Given the description of an element on the screen output the (x, y) to click on. 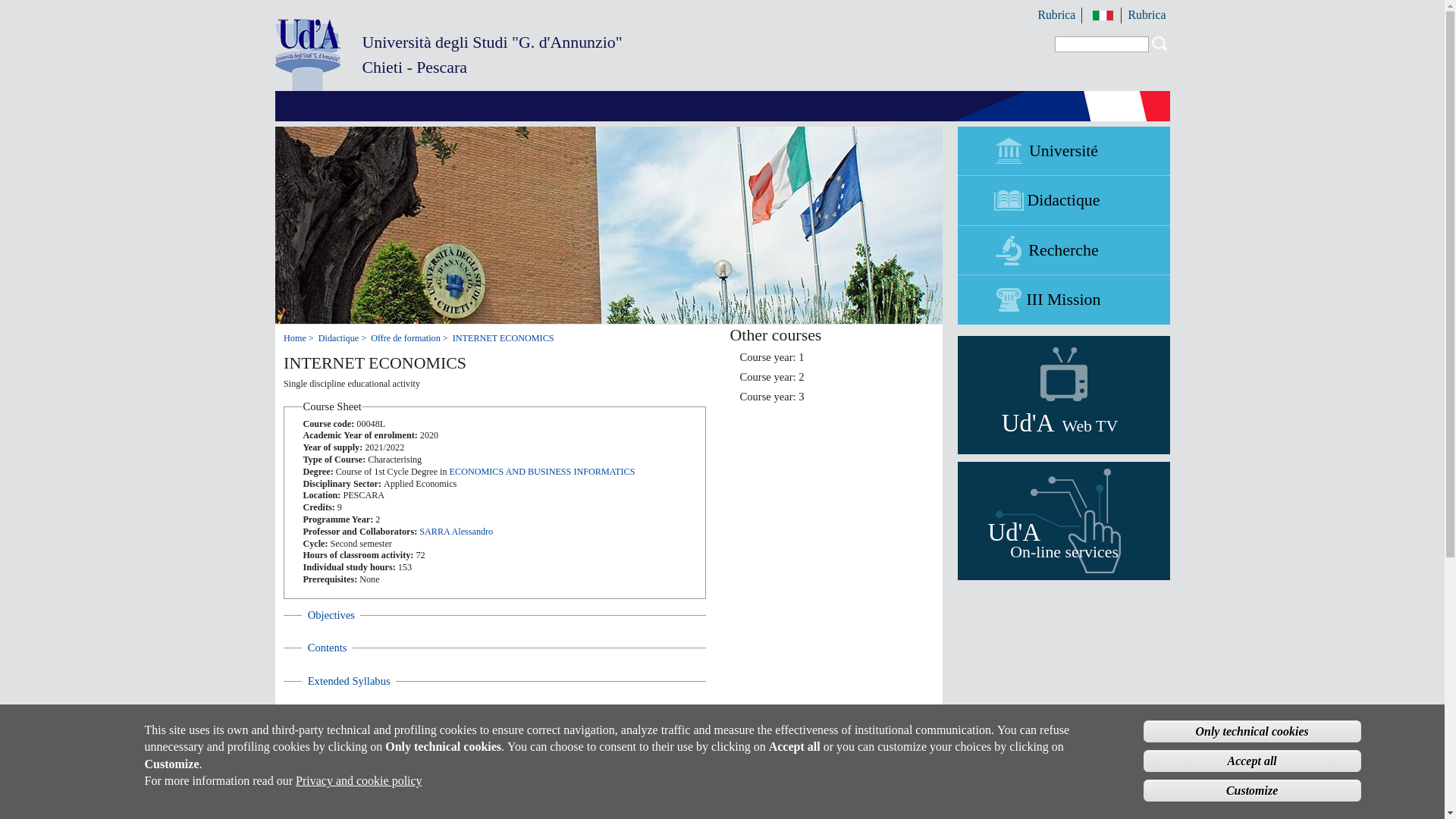
SARRA Alessandro (456, 531)
ECONOMICS AND BUSINESS INFORMATICS (541, 471)
Research (1062, 250)
Rubrica (351, 811)
Offre de formation (1057, 15)
III Mission (409, 337)
italiano (355, 746)
Home (1062, 299)
Didactique (1102, 15)
Didactique (298, 337)
Home (1062, 200)
Rubrica (342, 337)
